Given the description of an element on the screen output the (x, y) to click on. 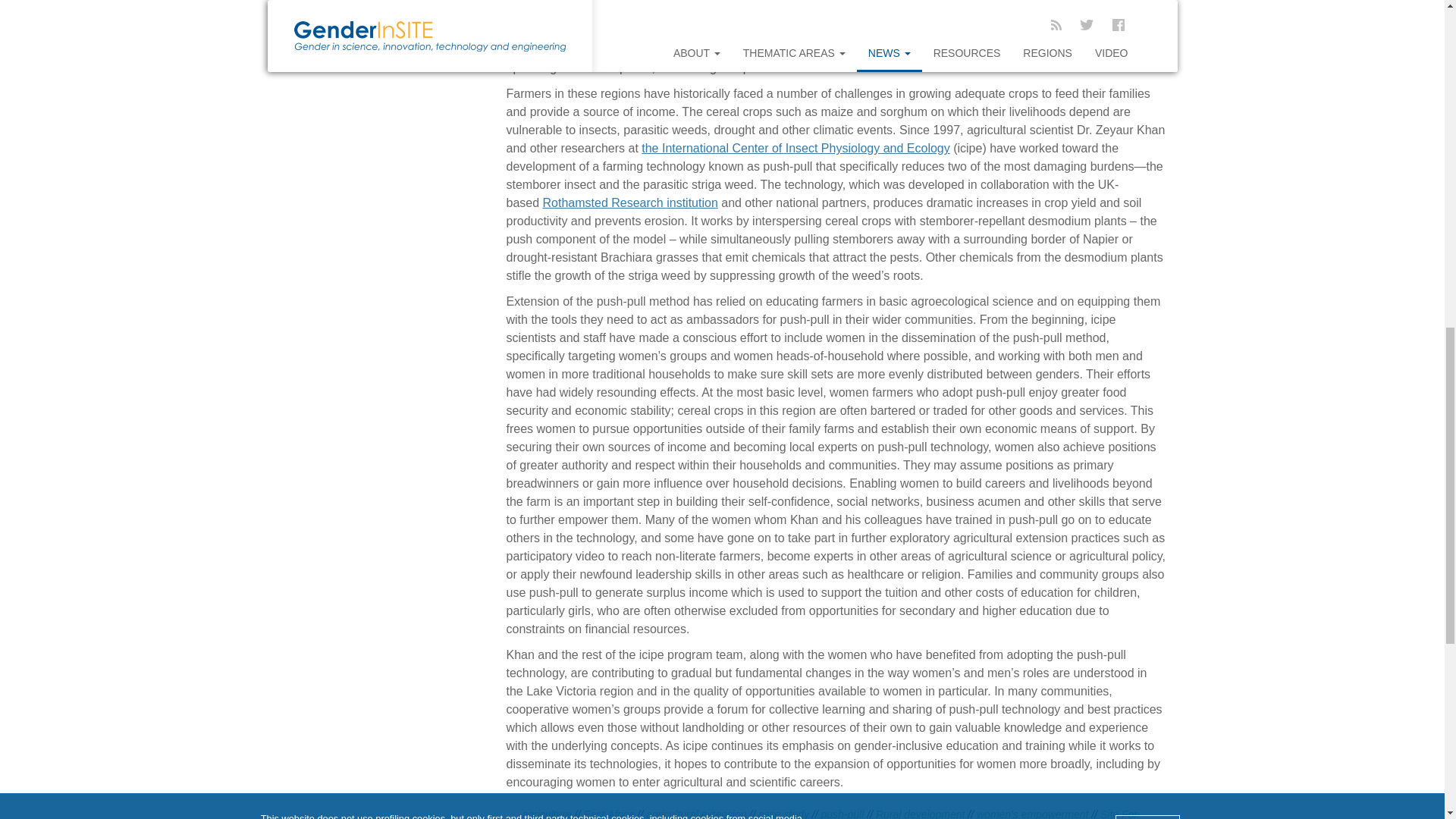
agriculture (545, 813)
case study (783, 813)
Rothamsted Research institution (630, 202)
Rural development (920, 813)
push-pull (842, 813)
women's empowerment (1031, 813)
Site For Women (829, 813)
East Africa (608, 813)
the International Center of Insect Physiology and Ecology (795, 147)
SUBSCRIBE (324, 10)
